Given the description of an element on the screen output the (x, y) to click on. 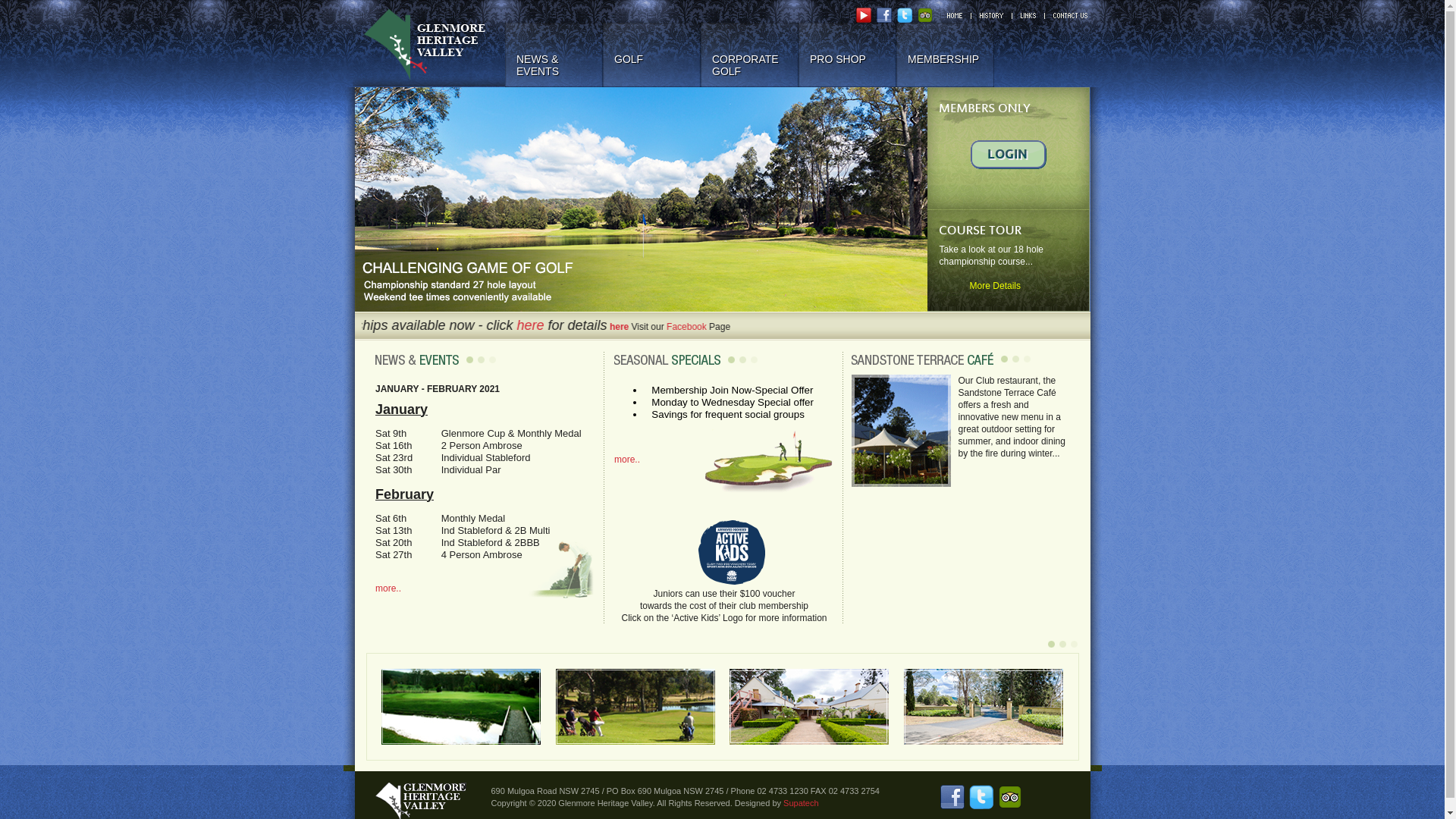
here Element type: text (543, 324)
more.. Element type: text (388, 588)
Supatech Element type: text (800, 802)
NEWS & EVENTS Element type: text (553, 54)
Facebook Element type: text (697, 326)
GOLF Element type: text (651, 54)
            More Details Element type: text (979, 285)
CORPORATE GOLF Element type: text (749, 54)
here Element type: text (630, 326)
more.. Element type: text (627, 459)
PRO SHOP Element type: text (847, 54)
MEMBERSHIP Element type: text (945, 54)
